Given the description of an element on the screen output the (x, y) to click on. 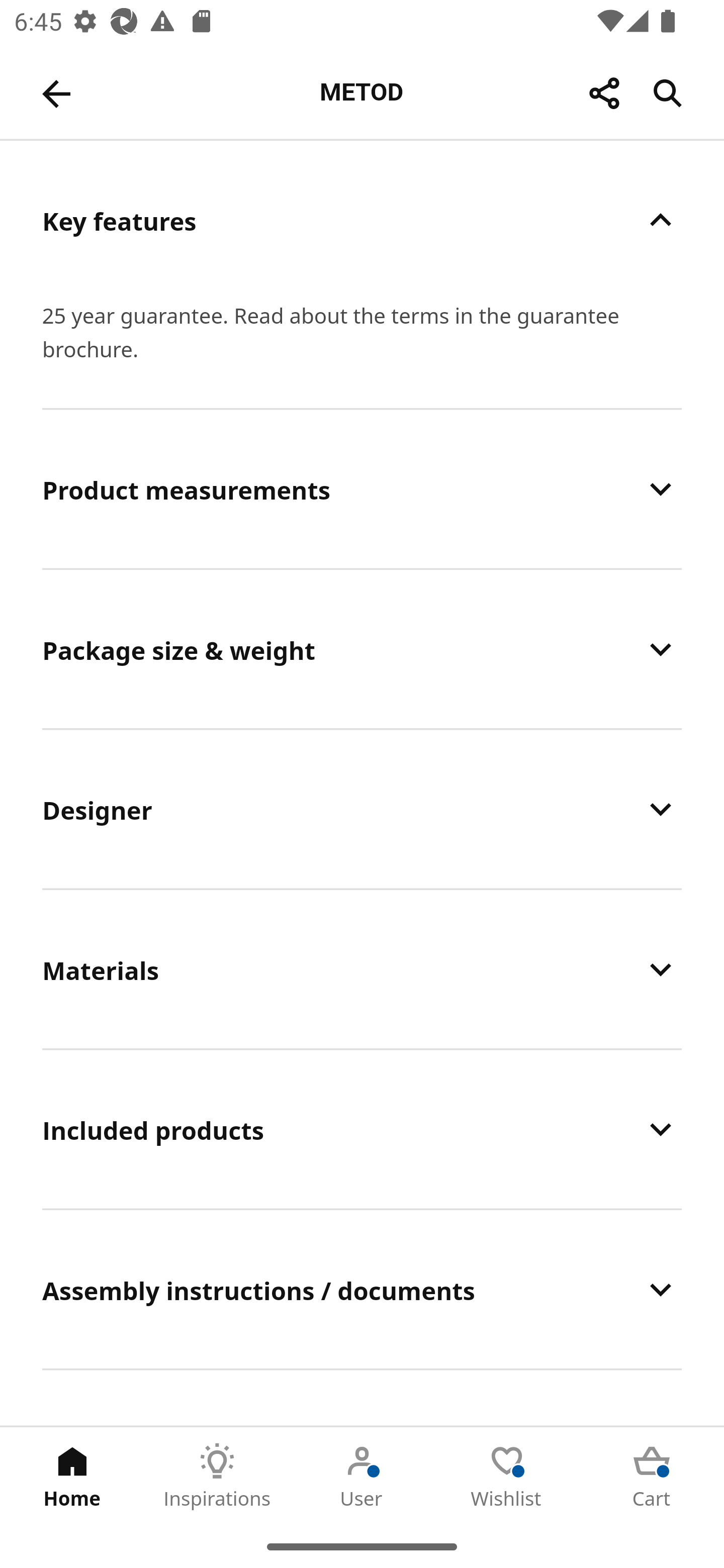
Key features (361, 219)
Product measurements (361, 488)
Package size & weight (361, 648)
Designer (361, 808)
Materials (361, 969)
Included products (361, 1129)
Assembly instructions / documents (361, 1289)
Home
Tab 1 of 5 (72, 1476)
Inspirations
Tab 2 of 5 (216, 1476)
User
Tab 3 of 5 (361, 1476)
Wishlist
Tab 4 of 5 (506, 1476)
Cart
Tab 5 of 5 (651, 1476)
